Given the description of an element on the screen output the (x, y) to click on. 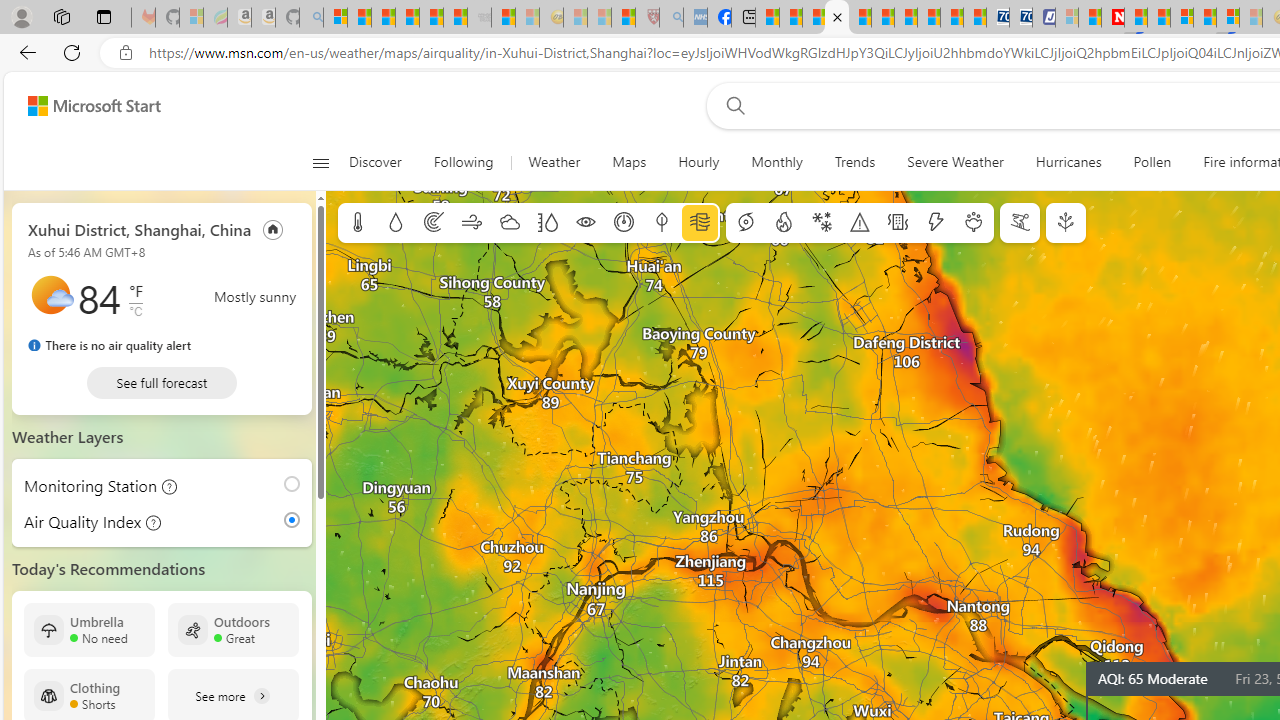
Air Quality Index (295, 520)
Air quality (700, 223)
Earthquake (898, 223)
Fire information (783, 223)
Maps (628, 162)
Humidity (547, 223)
Local - MSN (622, 17)
Weather (554, 162)
Latest Politics News & Archive | Newsweek.com (1112, 17)
Precipitation (395, 223)
E-tree (1066, 223)
New Report Confirms 2023 Was Record Hot | Watch (430, 17)
